Given the description of an element on the screen output the (x, y) to click on. 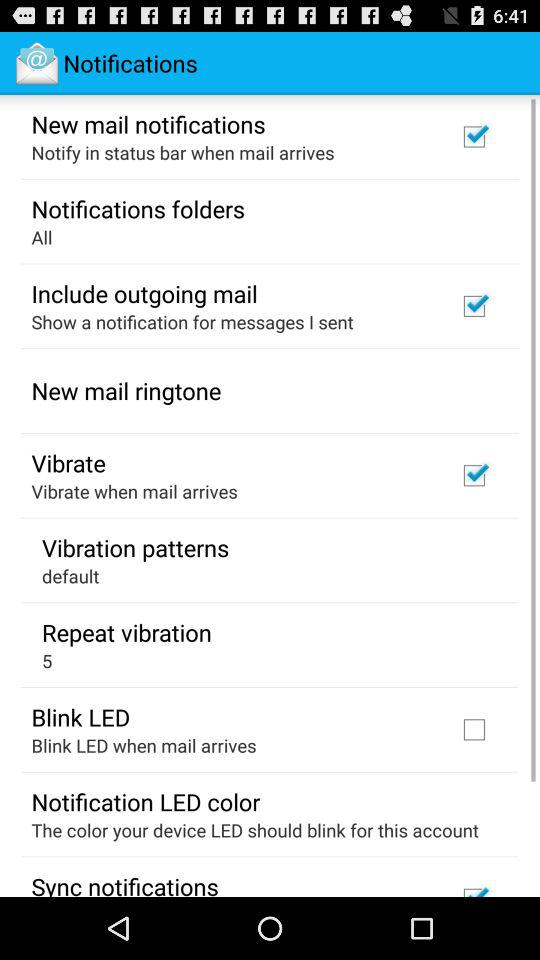
press item below default app (126, 632)
